Given the description of an element on the screen output the (x, y) to click on. 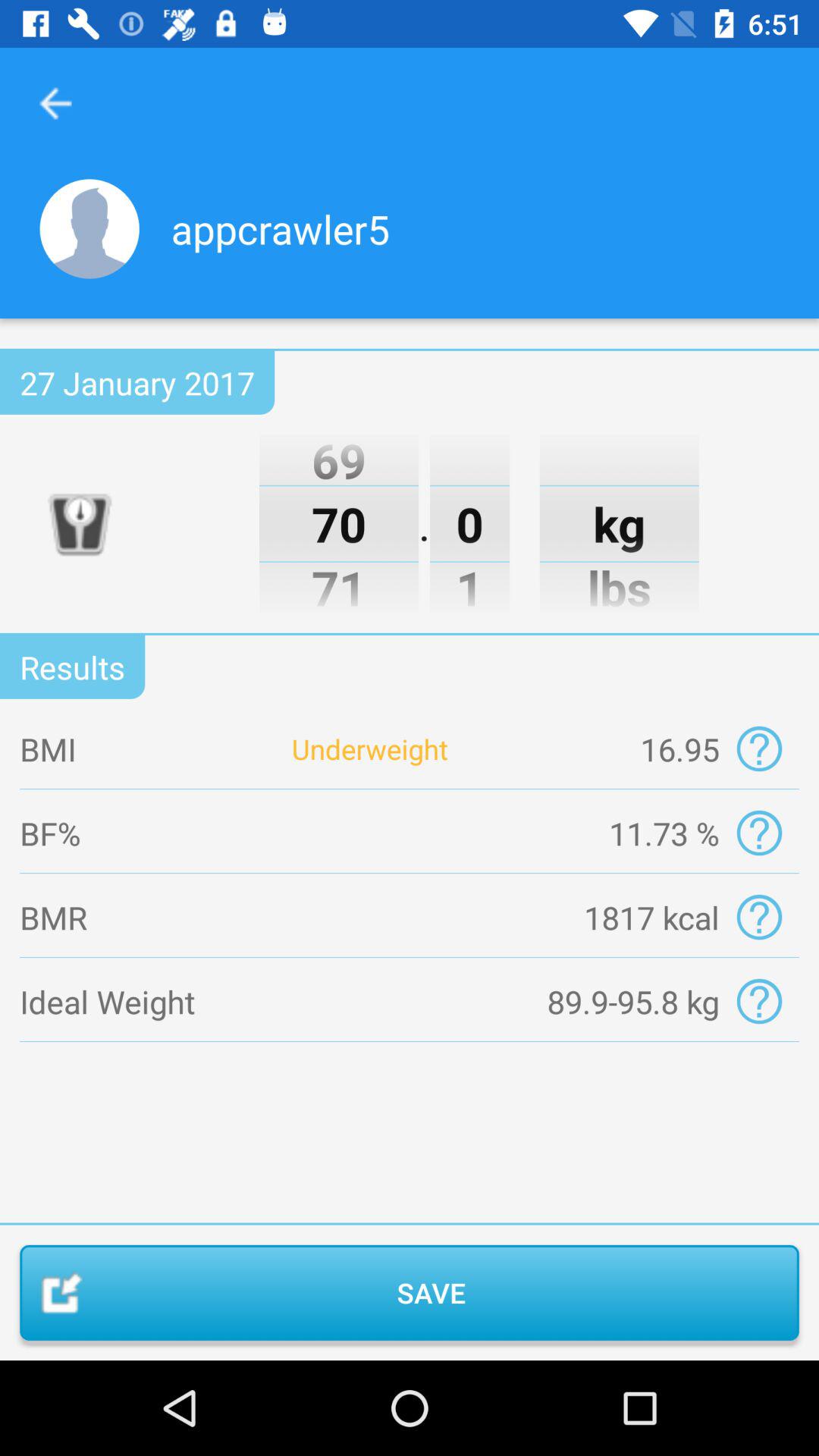
calculate bmi (759, 748)
